Given the description of an element on the screen output the (x, y) to click on. 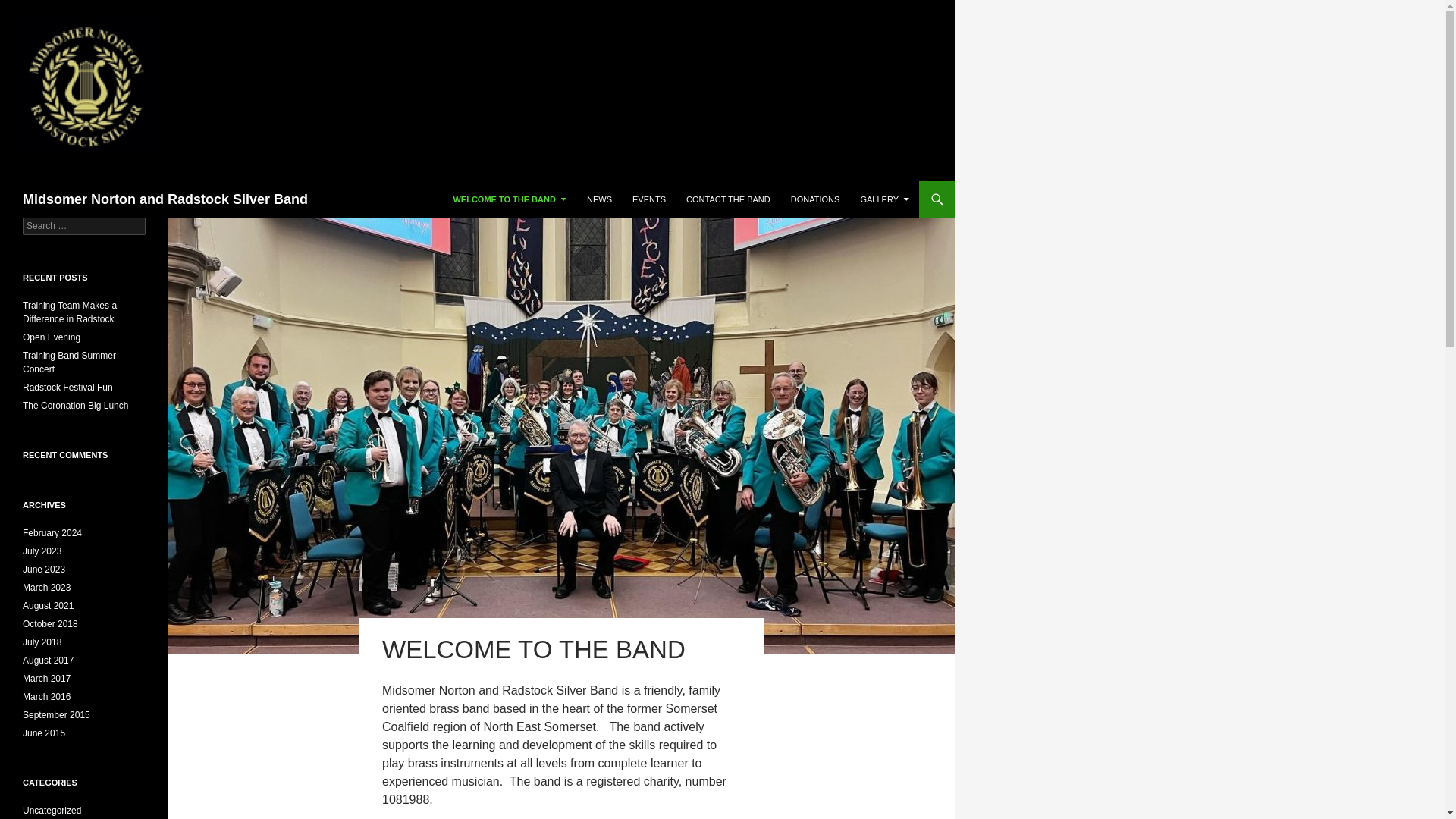
GALLERY (884, 198)
Midsomer Norton and Radstock Silver Band (165, 198)
CONTACT THE BAND (727, 198)
NEWS (599, 198)
EVENTS (649, 198)
WELCOME TO THE BAND (509, 198)
DONATIONS (814, 198)
